Given the description of an element on the screen output the (x, y) to click on. 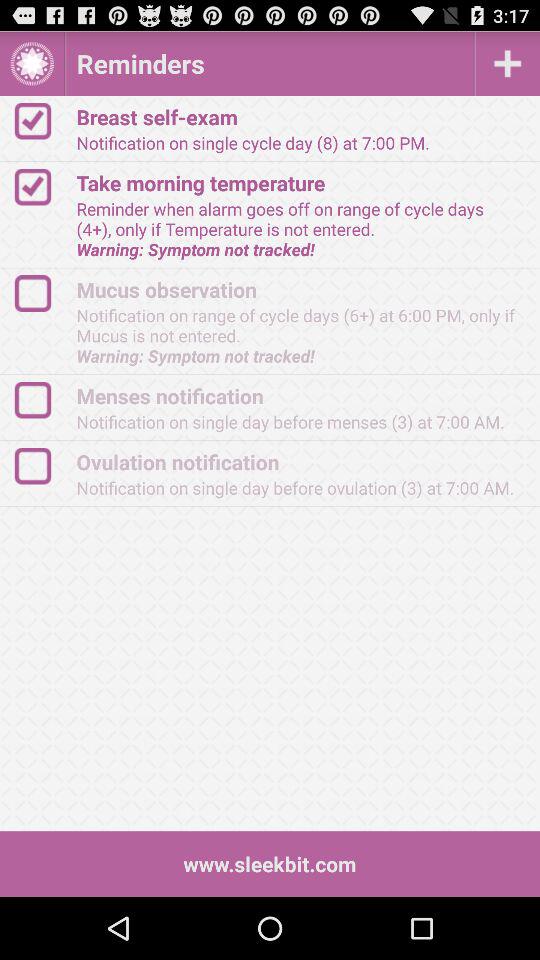
tick (41, 120)
